Given the description of an element on the screen output the (x, y) to click on. 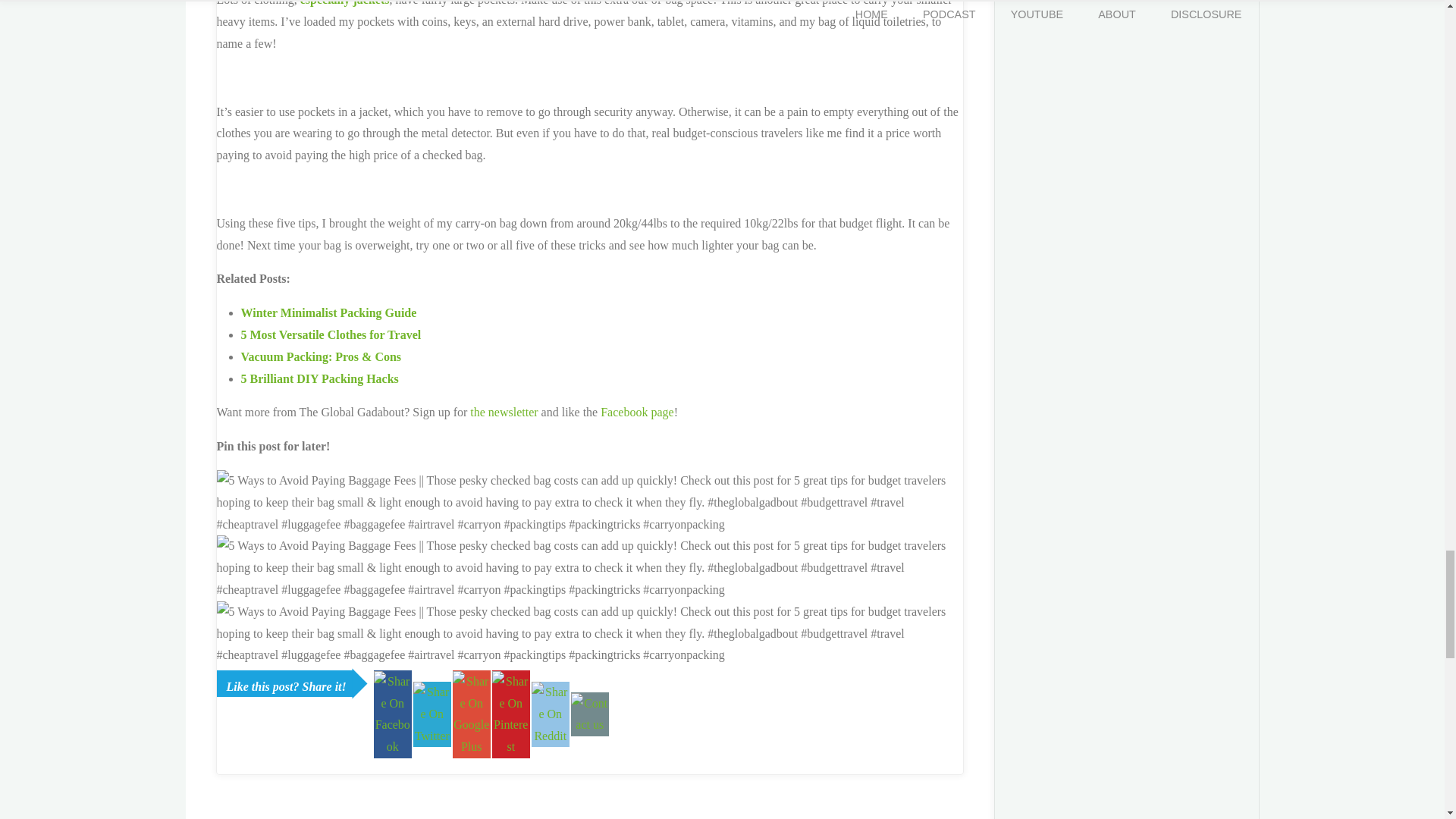
Facebook page (635, 411)
5 Most Versatile Clothes for Travel (331, 334)
5 Brilliant DIY Packing Hacks (319, 378)
Winter Minimalist Packing Guide (328, 312)
the newsletter (503, 411)
Like this post? Share it! (284, 683)
especially jackets (344, 2)
